Given the description of an element on the screen output the (x, y) to click on. 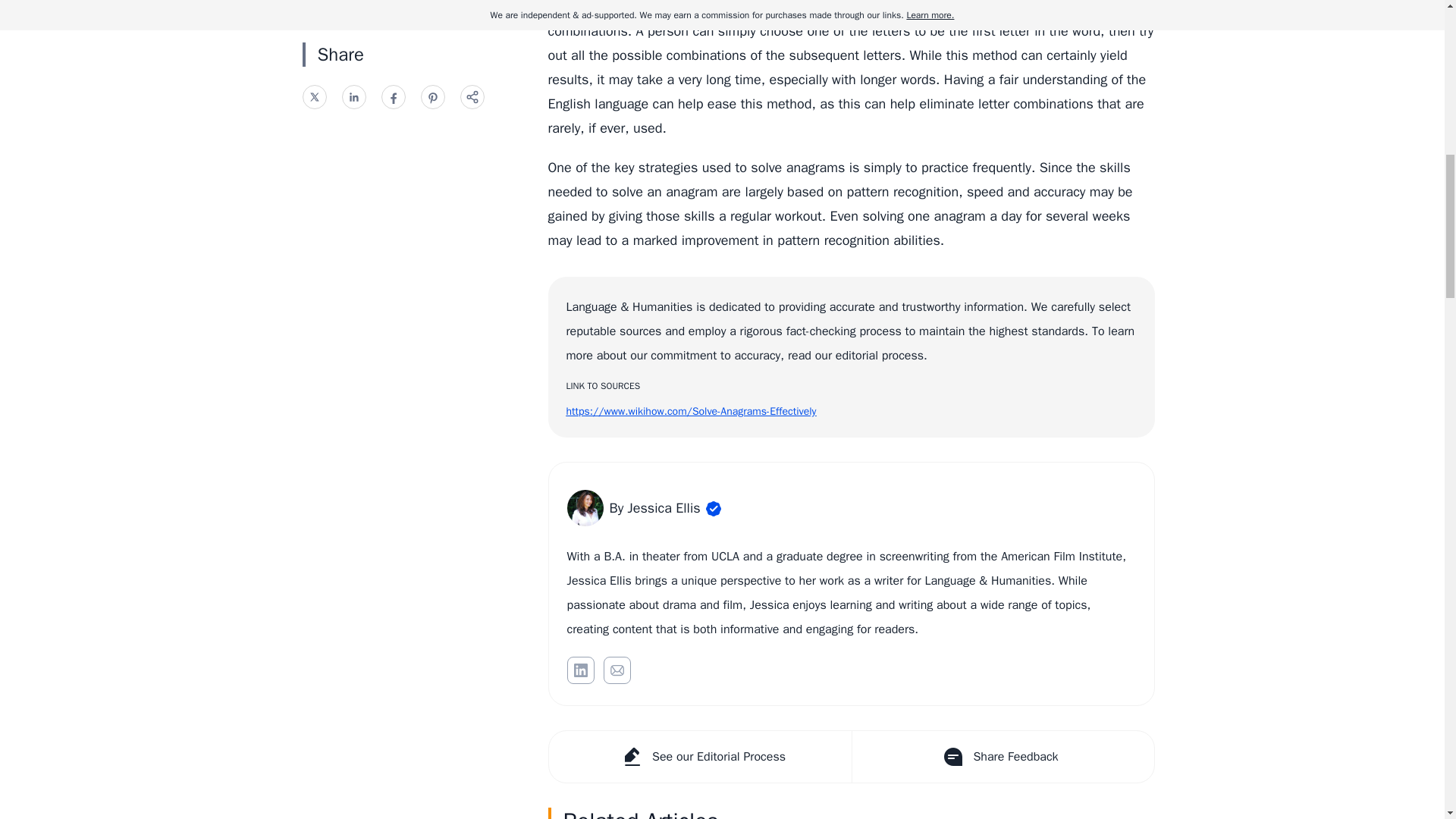
See our Editorial Process (699, 756)
Share Feedback (1001, 756)
